Given the description of an element on the screen output the (x, y) to click on. 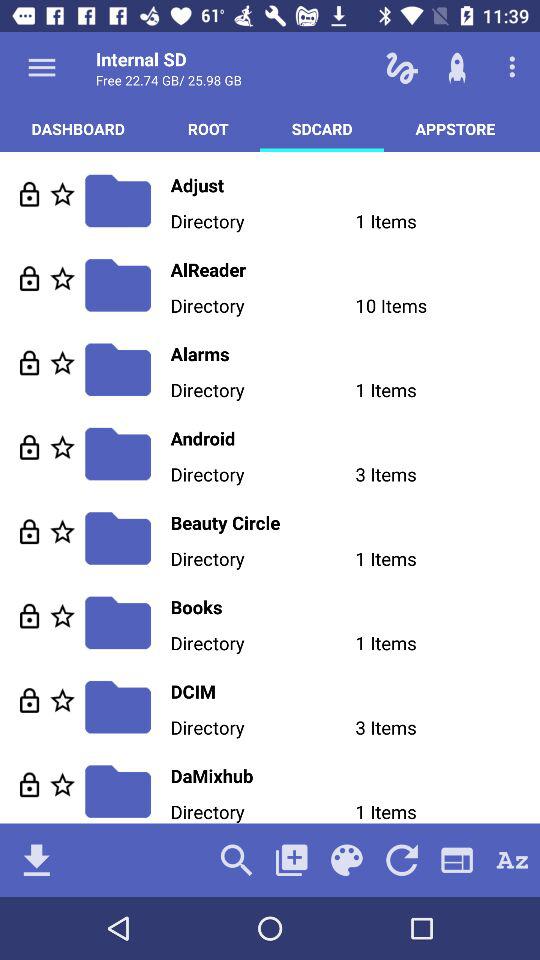
go to favorite (62, 362)
